Given the description of an element on the screen output the (x, y) to click on. 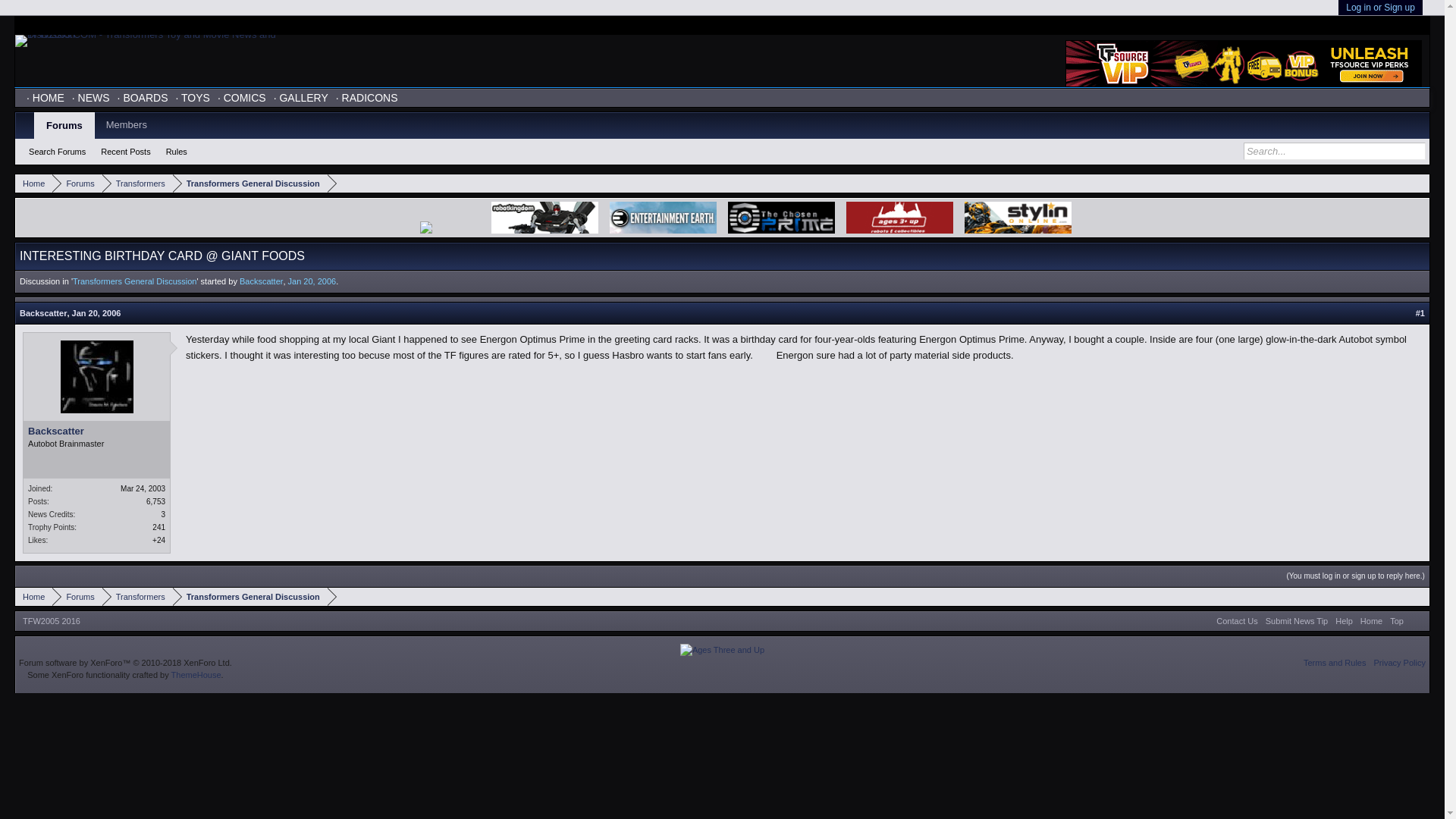
Open quick navigation (1420, 596)
Open quick navigation (1420, 183)
241 (158, 527)
Transformers (137, 597)
Transformers (137, 183)
Backscatter (261, 280)
NEWS (90, 97)
Jan 20, 2006 (95, 312)
Transformers Toy Gallery (300, 97)
Forums (76, 183)
